Given the description of an element on the screen output the (x, y) to click on. 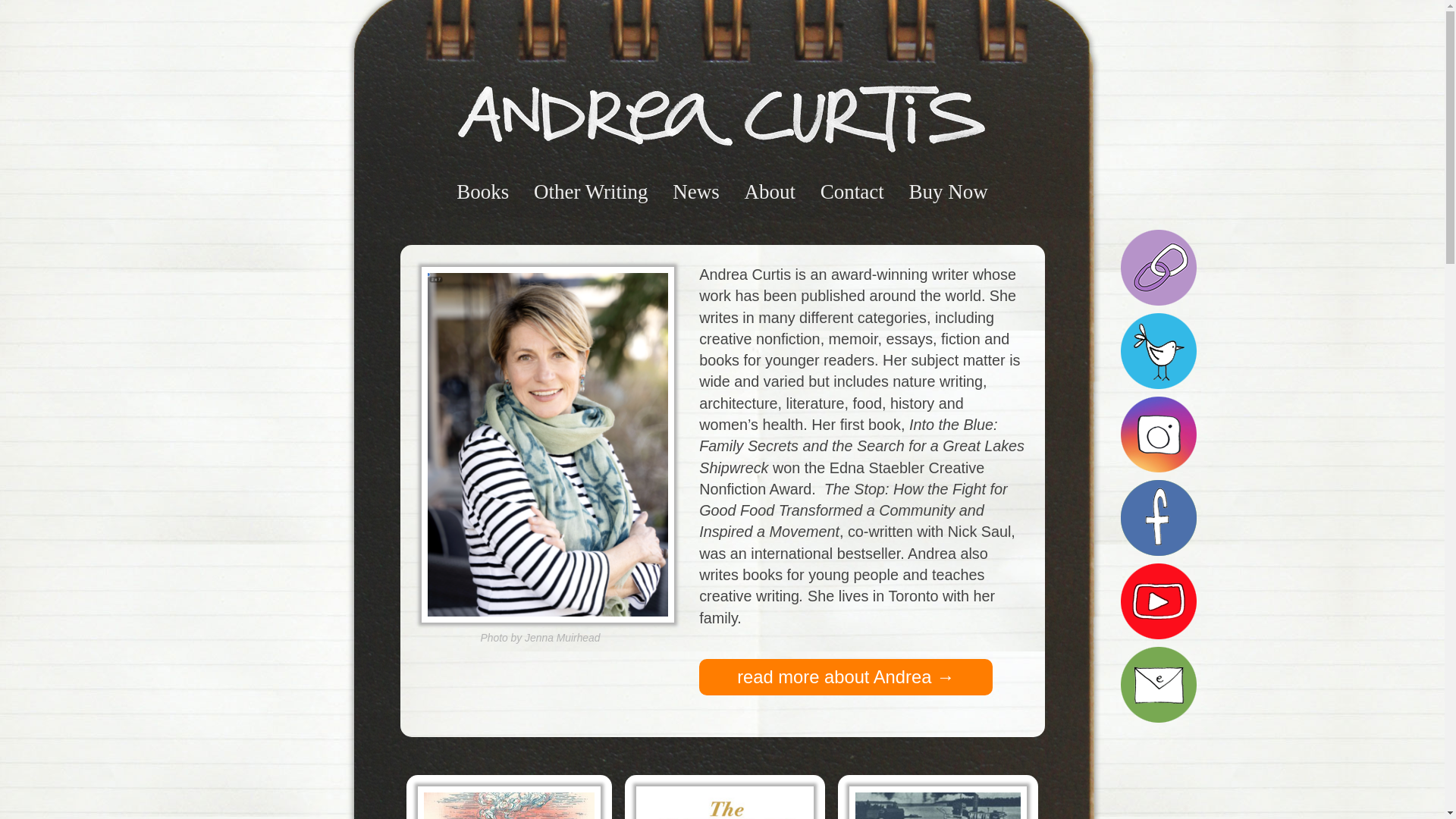
Andrea Curtis Element type: hover (722, 117)
Books Element type: text (482, 191)
Contact Element type: text (852, 191)
About Element type: text (770, 191)
Buy Now Element type: text (948, 191)
Other Writing Element type: text (590, 191)
News Element type: text (695, 191)
